Given the description of an element on the screen output the (x, y) to click on. 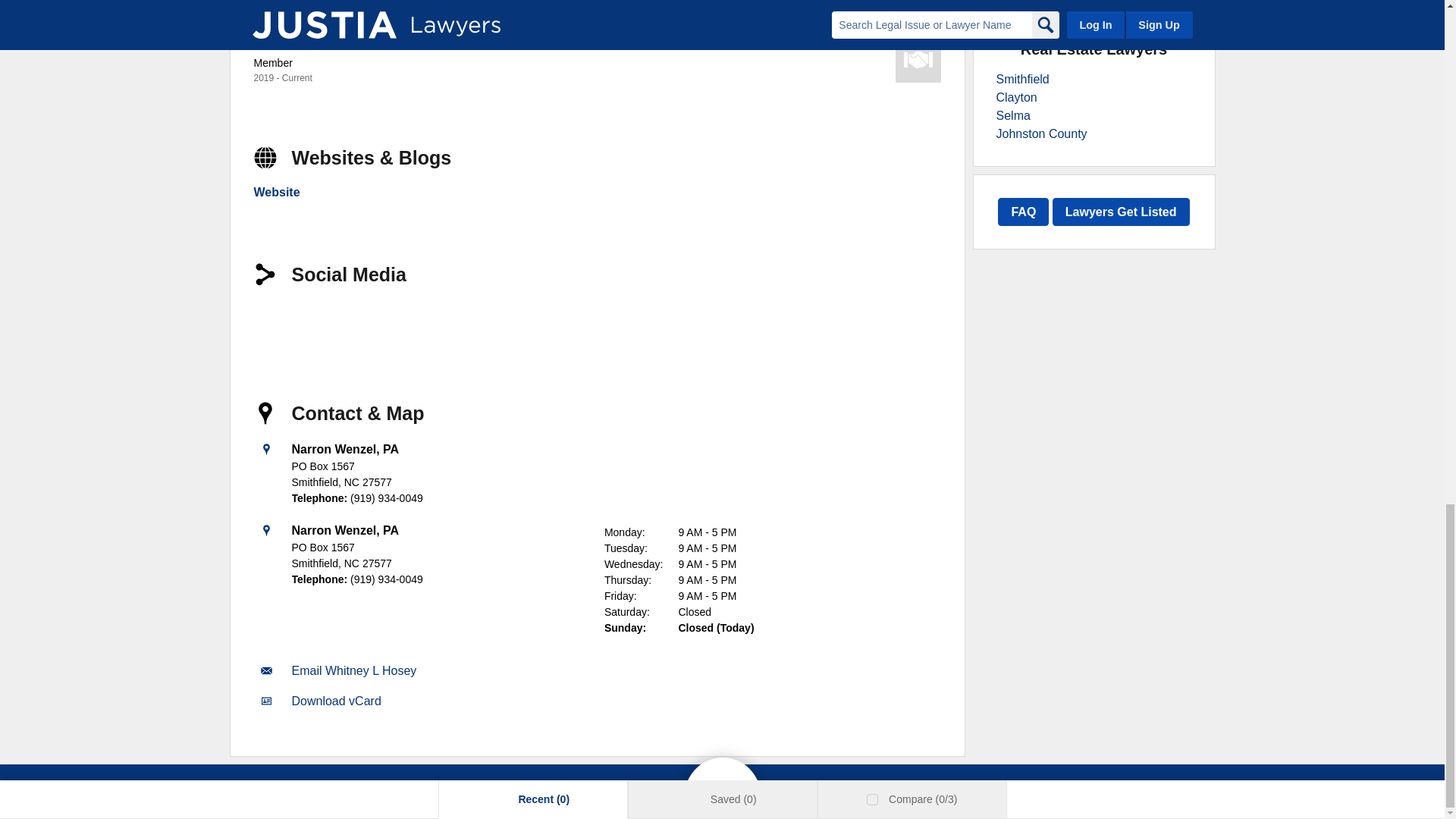
LinkedIn (275, 324)
Whitney L Hosey on LinkedIn (275, 324)
Justia Profile (328, 324)
Email Whitney L Hosey (353, 670)
 Justia Profile (328, 324)
Download vCard (335, 700)
Website (276, 192)
